Given the description of an element on the screen output the (x, y) to click on. 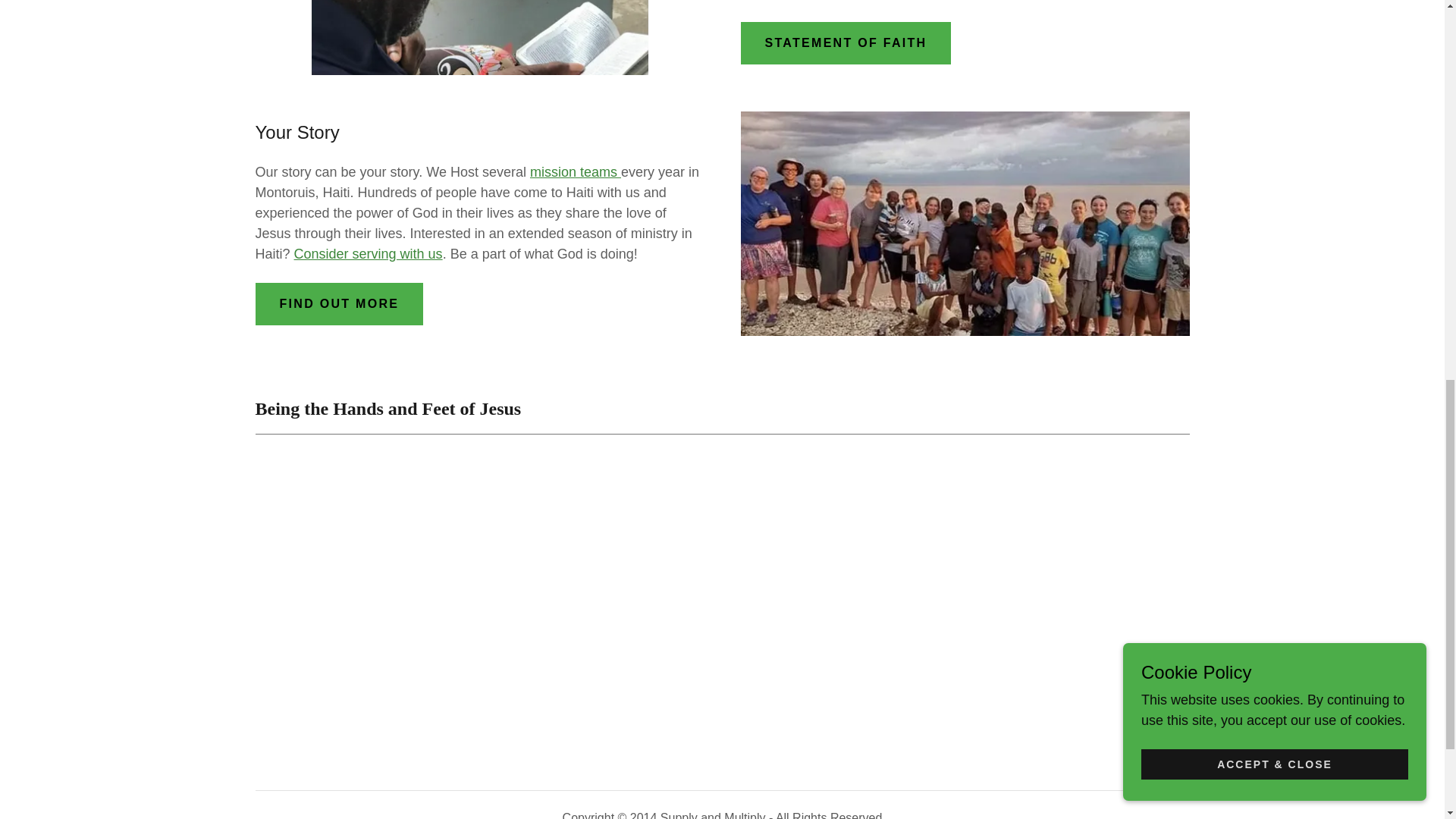
mission teams (575, 171)
STATEMENT OF FAITH (844, 43)
